Given the description of an element on the screen output the (x, y) to click on. 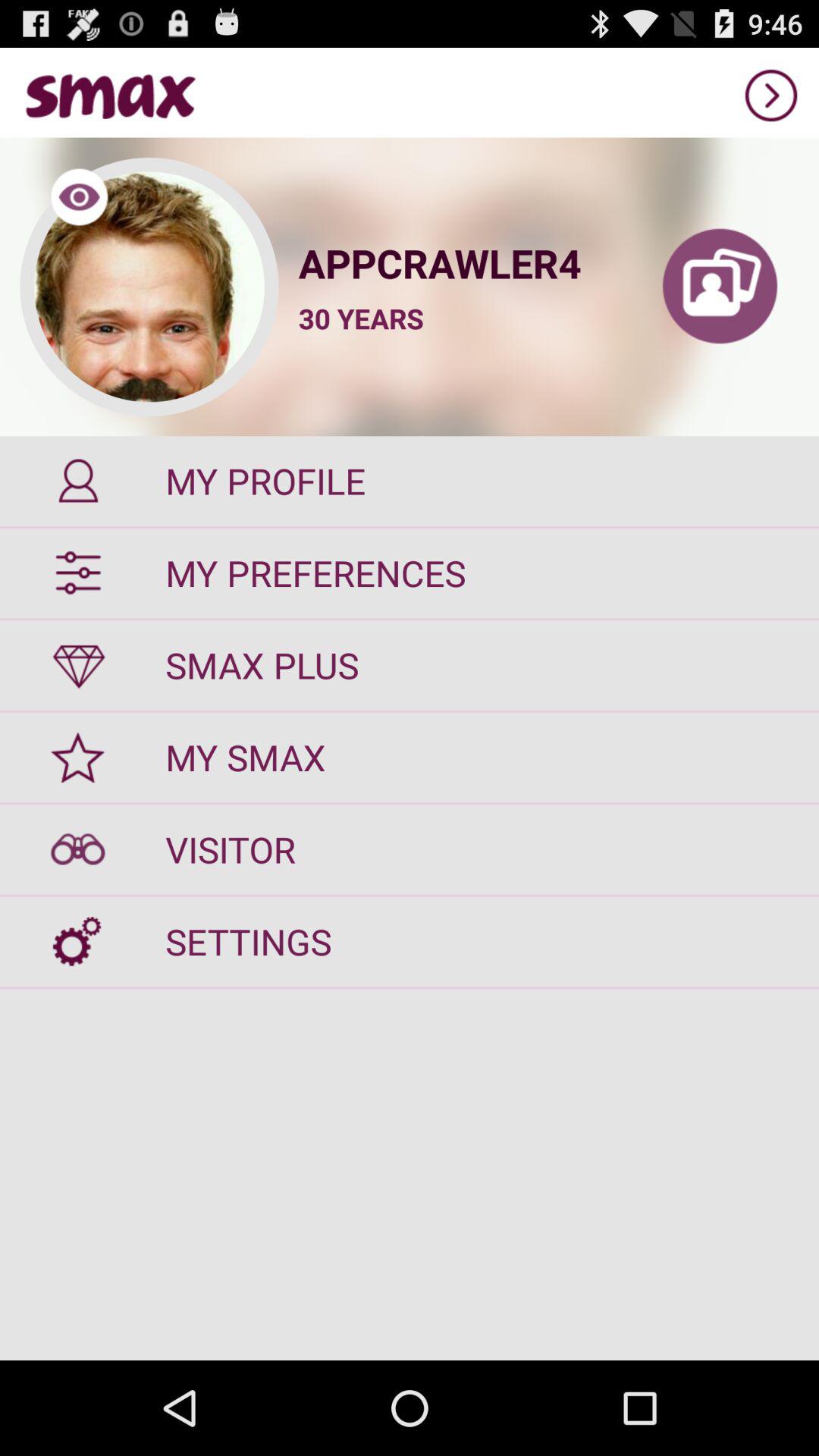
swipe to visitor (409, 849)
